Given the description of an element on the screen output the (x, y) to click on. 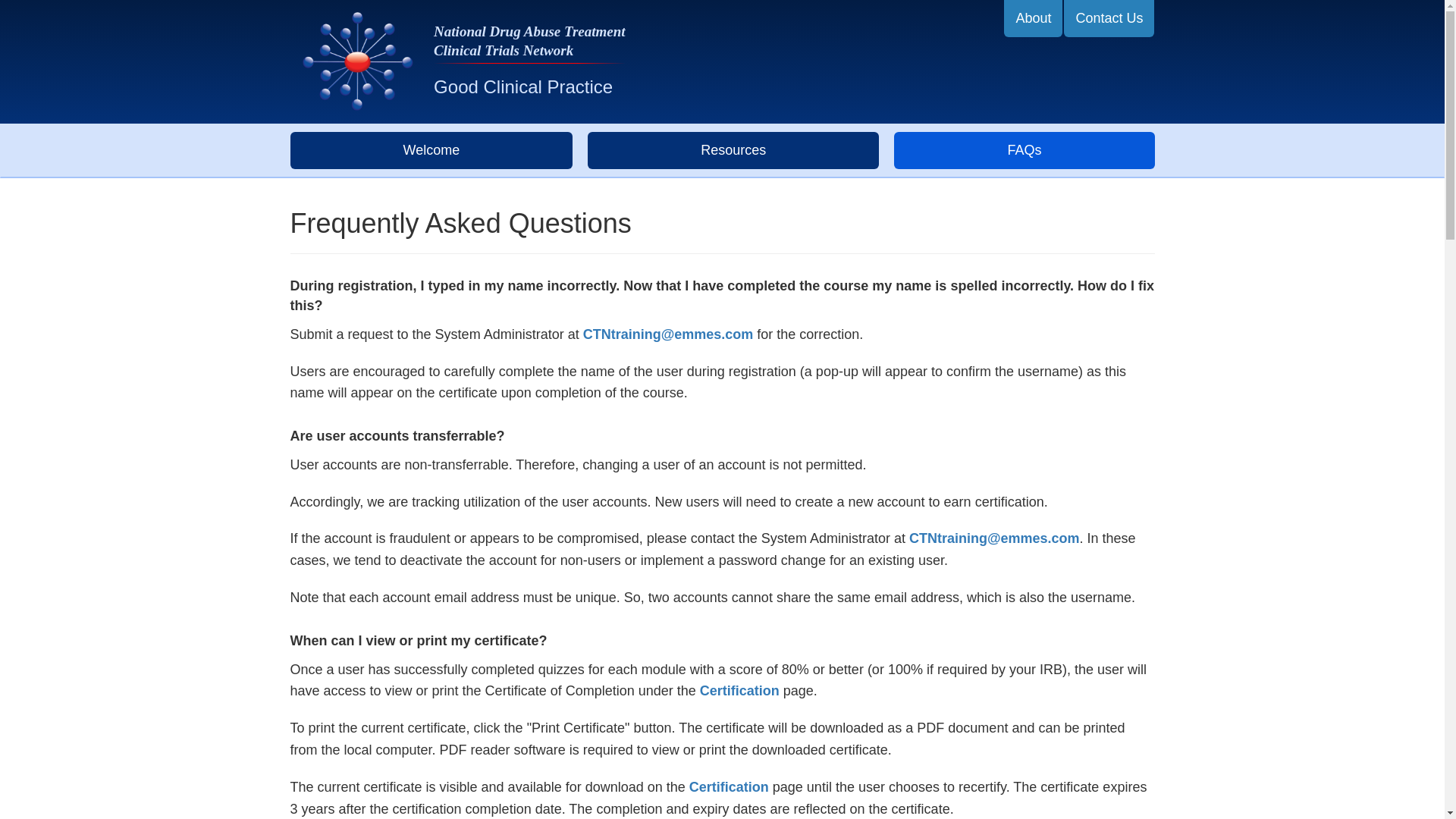
Contact Us (1109, 18)
Certification (739, 690)
Resources (733, 149)
Certification (728, 786)
About (1033, 18)
FAQs (1023, 149)
Welcome (430, 149)
